Given the description of an element on the screen output the (x, y) to click on. 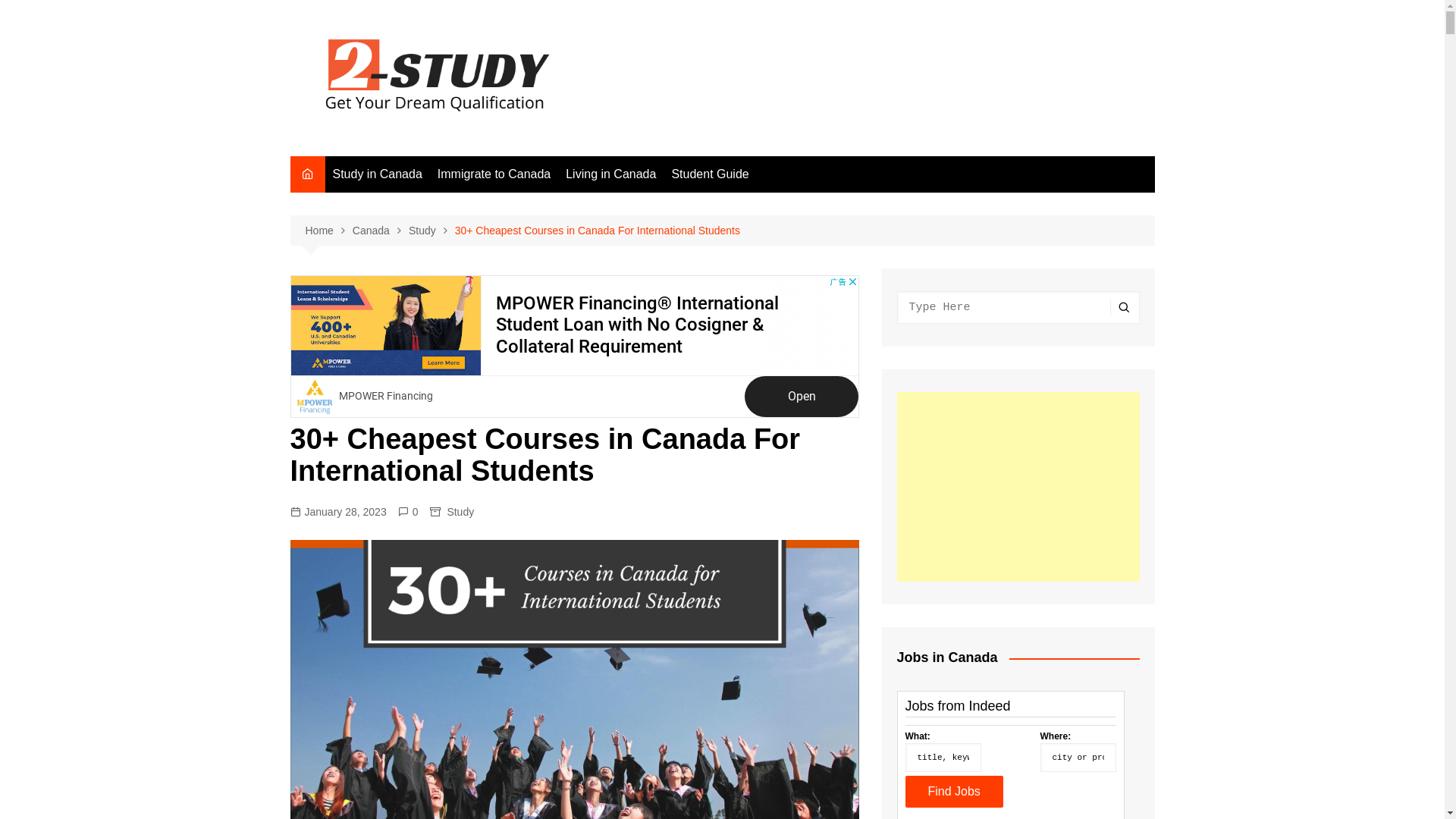
Advertisement Element type: hover (1017, 486)
Living in Canada Element type: text (610, 174)
Advertisement Element type: hover (573, 346)
Study Element type: text (459, 511)
30+ Cheapest Courses in Canada For International Students Element type: text (597, 230)
January 28, 2023 Element type: text (337, 511)
Student Guide Element type: text (709, 174)
Find Jobs Element type: text (954, 791)
Home Element type: text (327, 230)
Immigrate to Canada Element type: text (493, 174)
Study in Canada Element type: text (376, 174)
Canada Element type: text (380, 230)
0 Element type: text (408, 511)
Study Element type: text (431, 230)
